Given the description of an element on the screen output the (x, y) to click on. 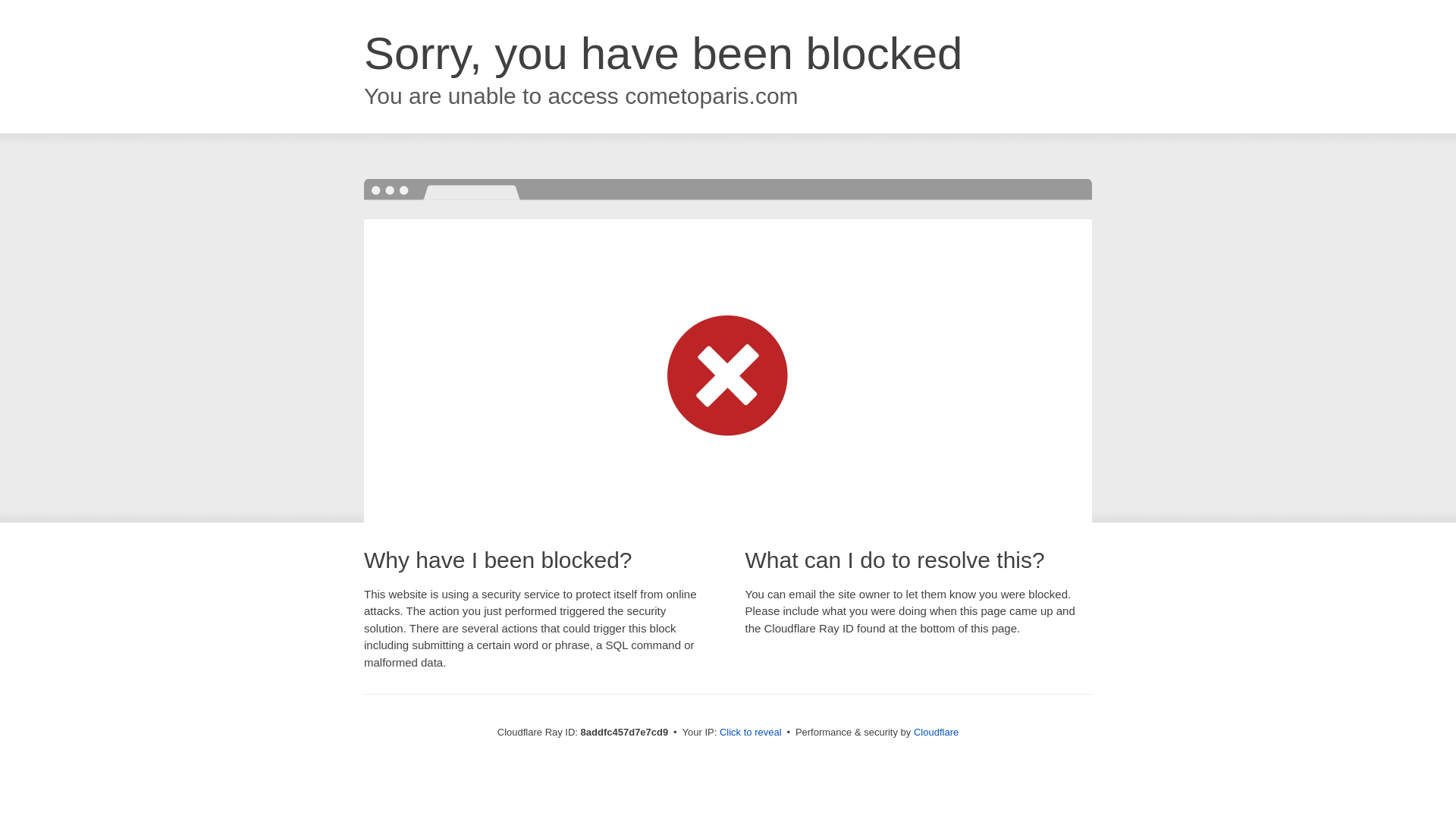
Click to reveal (750, 732)
Cloudflare (936, 731)
